Given the description of an element on the screen output the (x, y) to click on. 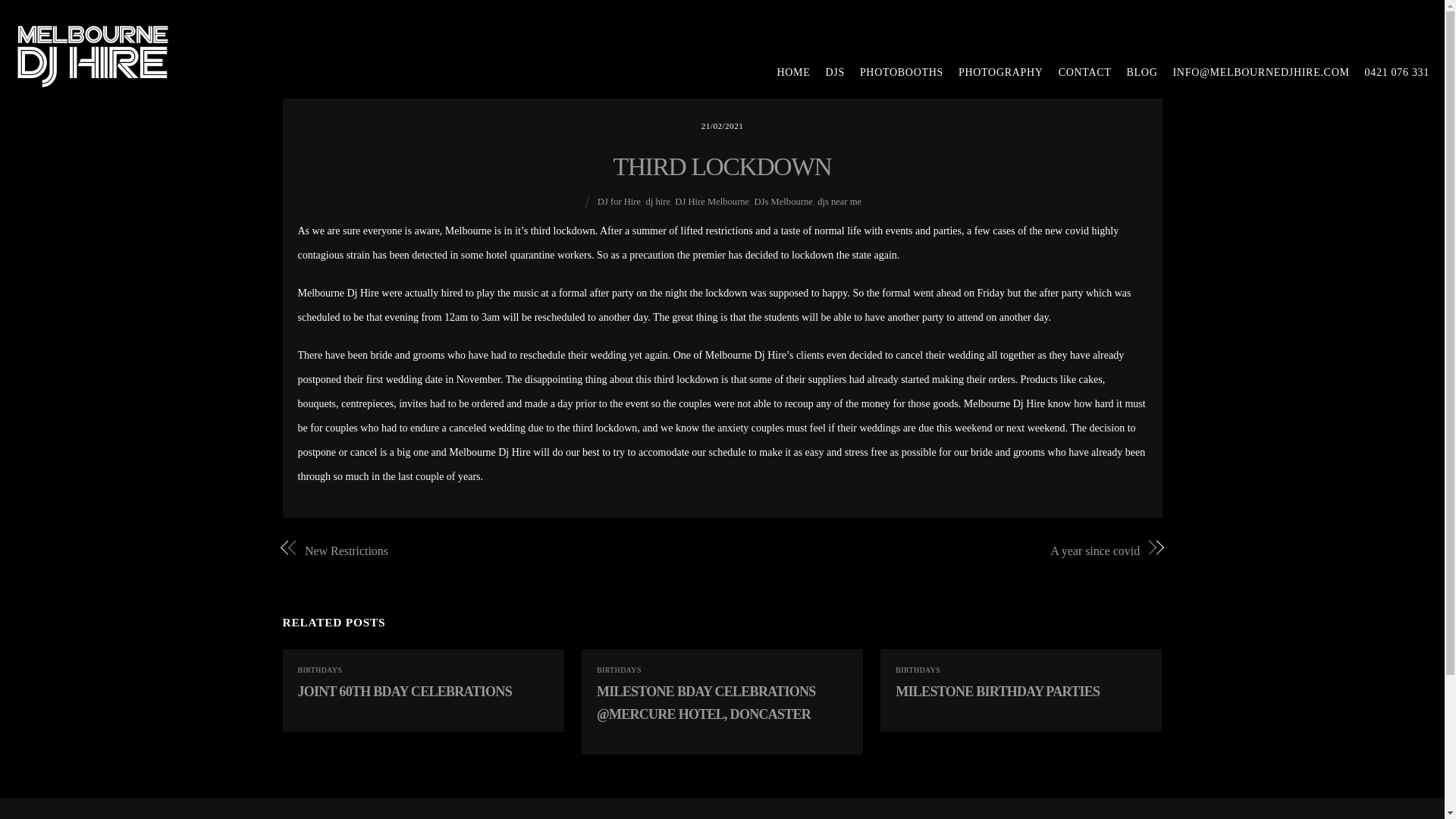
DJs Melbourne (783, 201)
PHOTOGRAPHY (993, 72)
JOINT 60TH BDAY CELEBRATIONS (404, 691)
BIRTHDAYS (319, 669)
CONTACT (1077, 72)
HOME (785, 72)
djs near me (838, 201)
BIRTHDAYS (619, 669)
Melbourne DJ HIRE (92, 79)
PHOTOBOOTHS (893, 72)
BIRTHDAYS (917, 669)
THIRD LOCKDOWN (721, 166)
BLOG (1134, 72)
New Restrictions (499, 550)
MILESTONE BIRTHDAY PARTIES (997, 691)
